Given the description of an element on the screen output the (x, y) to click on. 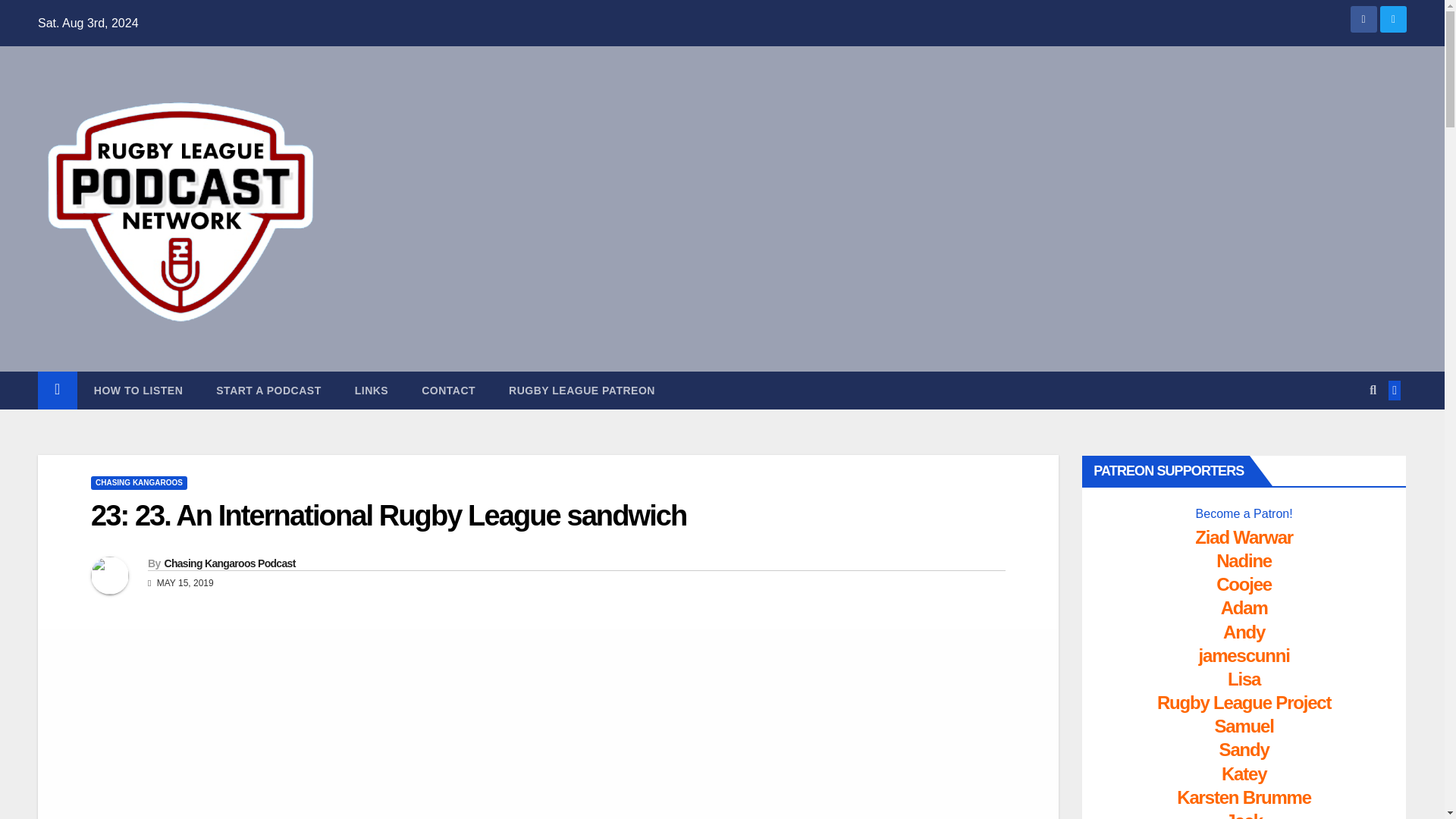
Chasing Kangaroos Podcast (229, 563)
START A PODCAST (268, 390)
Start A Podcast (268, 390)
Links (371, 390)
CONTACT (448, 390)
RUGBY LEAGUE PATREON (581, 390)
Contact (448, 390)
23: 23. An International Rugby League sandwich (387, 515)
Rugby League Patreon (581, 390)
LINKS (371, 390)
How To Listen (138, 390)
HOW TO LISTEN (138, 390)
CHASING KANGAROOS (138, 482)
Permalink to: 23: 23. An International Rugby League sandwich (387, 515)
